Given the description of an element on the screen output the (x, y) to click on. 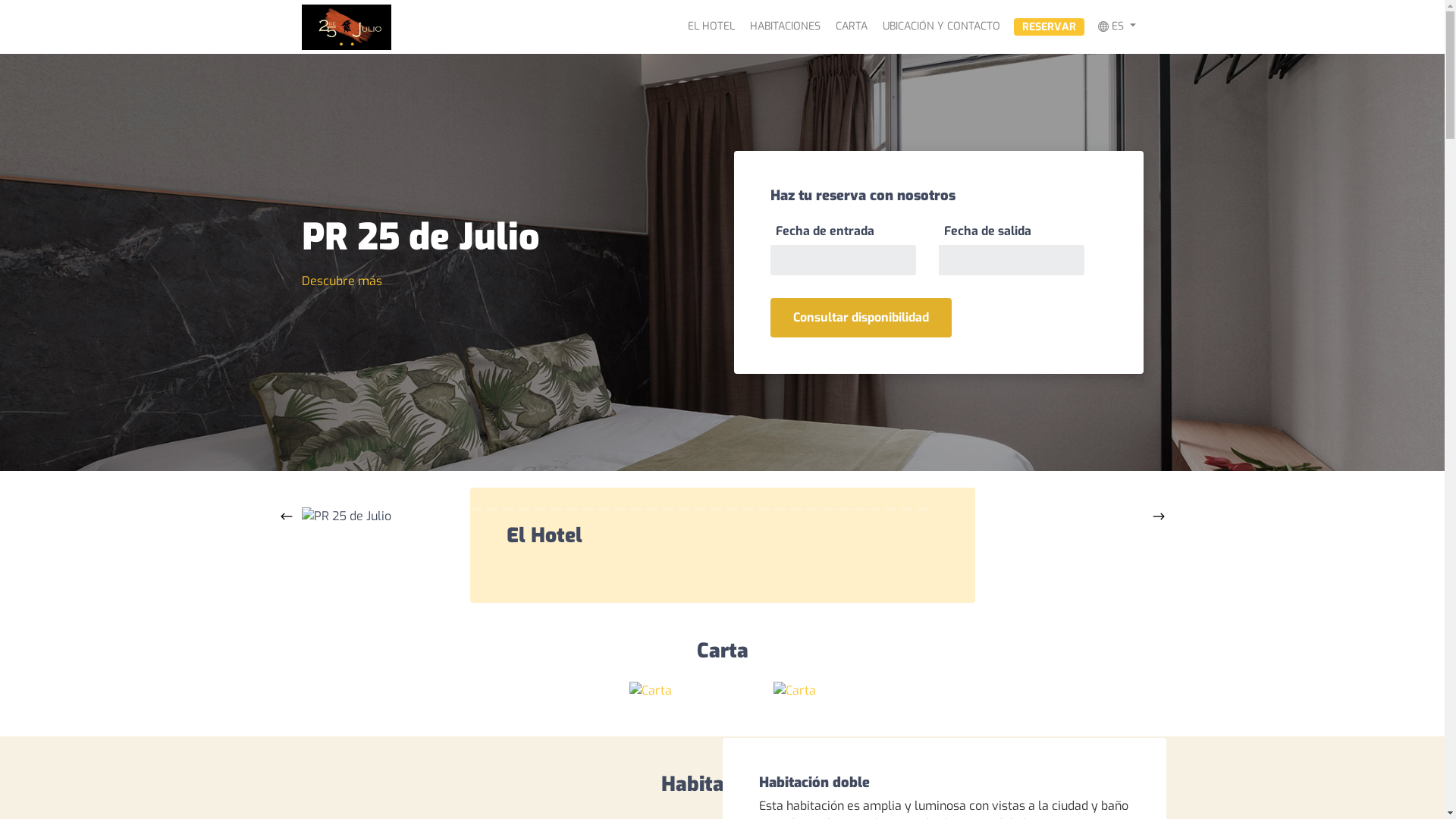
EL HOTEL Element type: text (711, 26)
HABITACIONES Element type: text (785, 26)
RESERVAR Element type: text (1048, 26)
Consultar disponibilidad Element type: text (860, 317)
CARTA Element type: text (851, 26)
ES Element type: text (1116, 26)
